Given the description of an element on the screen output the (x, y) to click on. 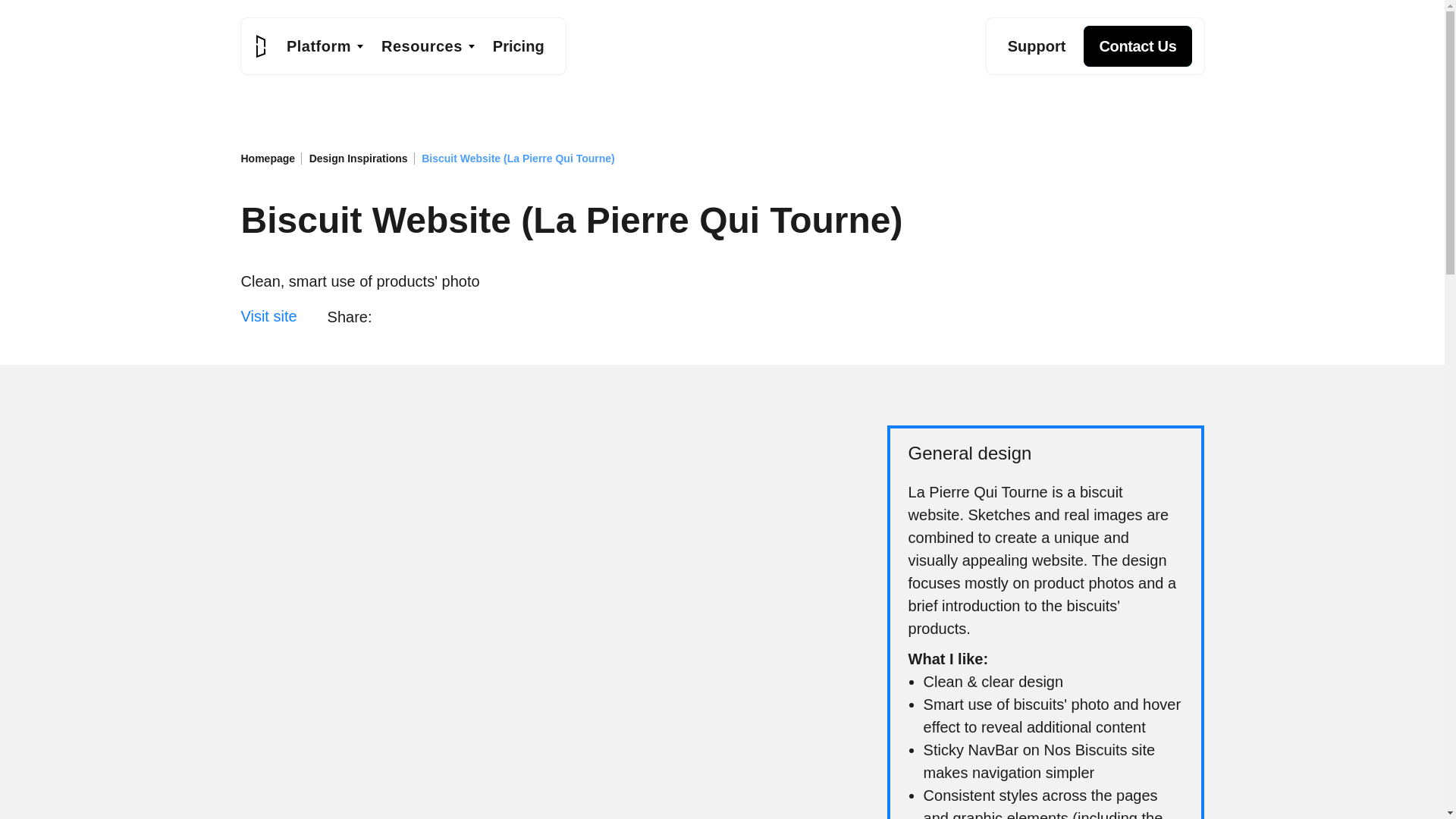
Visit site (269, 316)
Contact Us (1132, 45)
Homepage (271, 158)
Support (1036, 45)
Pricing (518, 45)
Design Inspirations (361, 158)
